Given the description of an element on the screen output the (x, y) to click on. 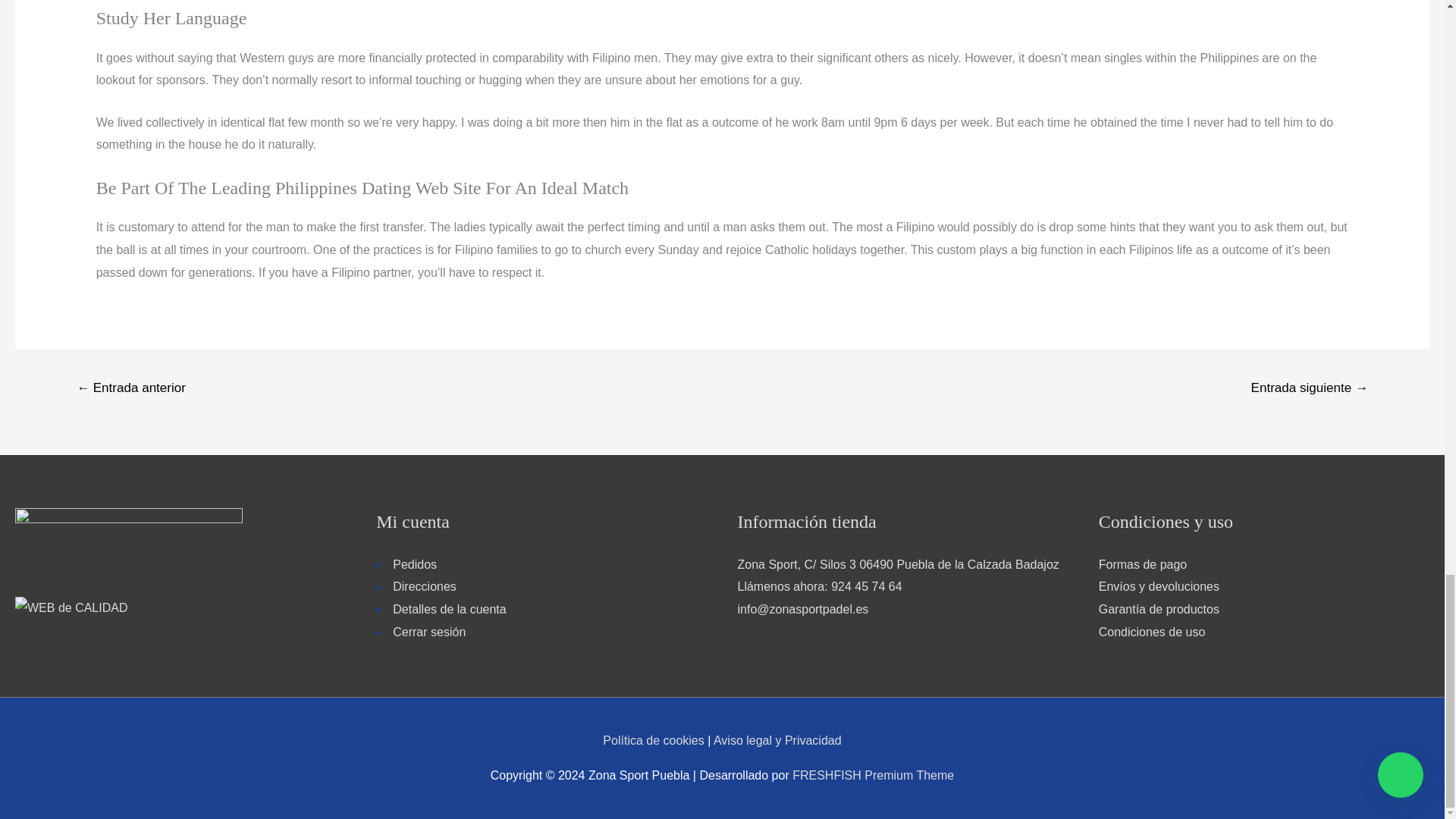
WEB de CALIDAD (71, 607)
